Given the description of an element on the screen output the (x, y) to click on. 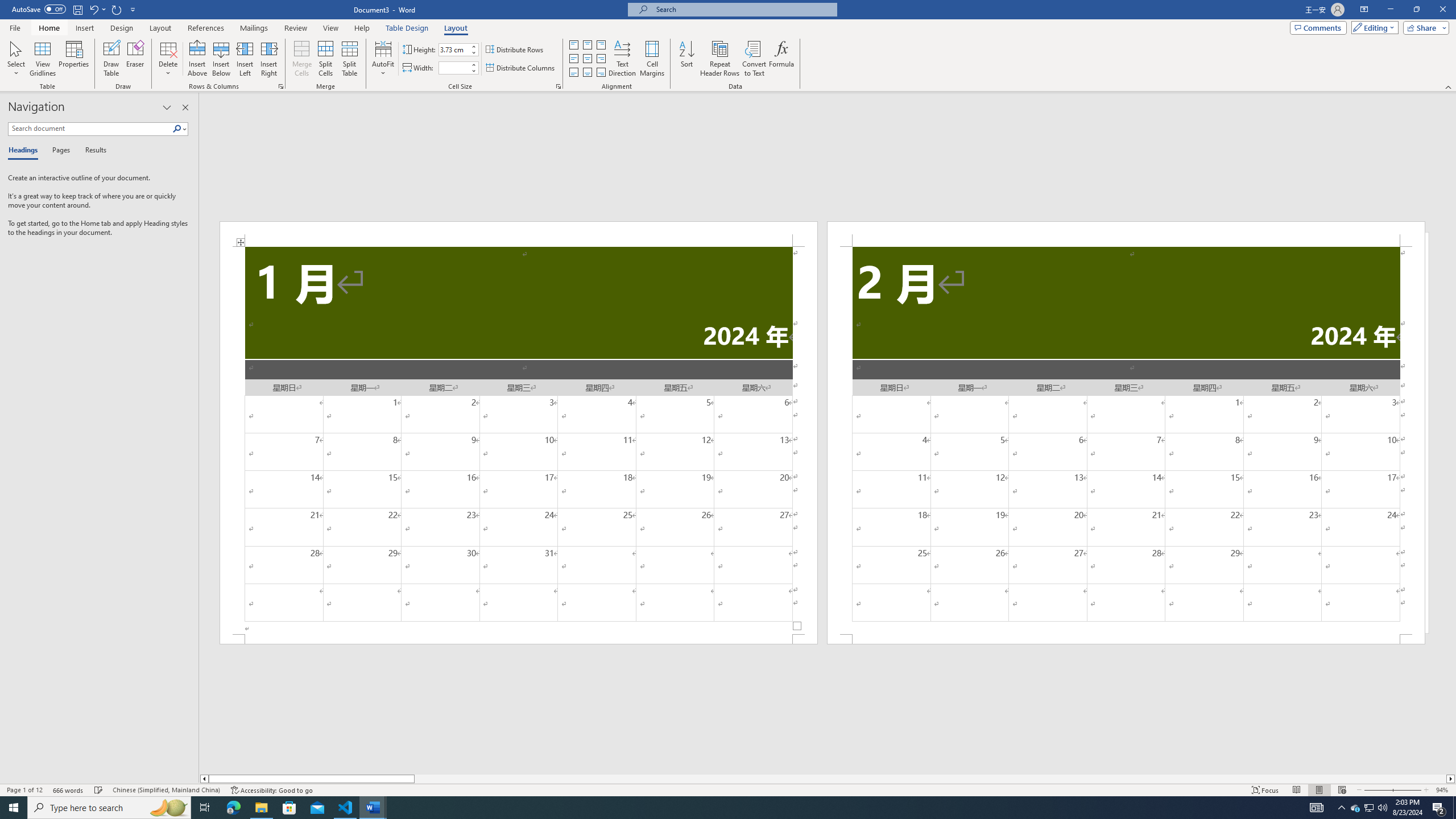
Split Cells... (325, 58)
Insert Cells... (280, 85)
Text Direction (622, 58)
Column left (203, 778)
Align Bottom Right (601, 72)
Footer -Section 2- (1126, 638)
Convert to Text... (754, 58)
